Given the description of an element on the screen output the (x, y) to click on. 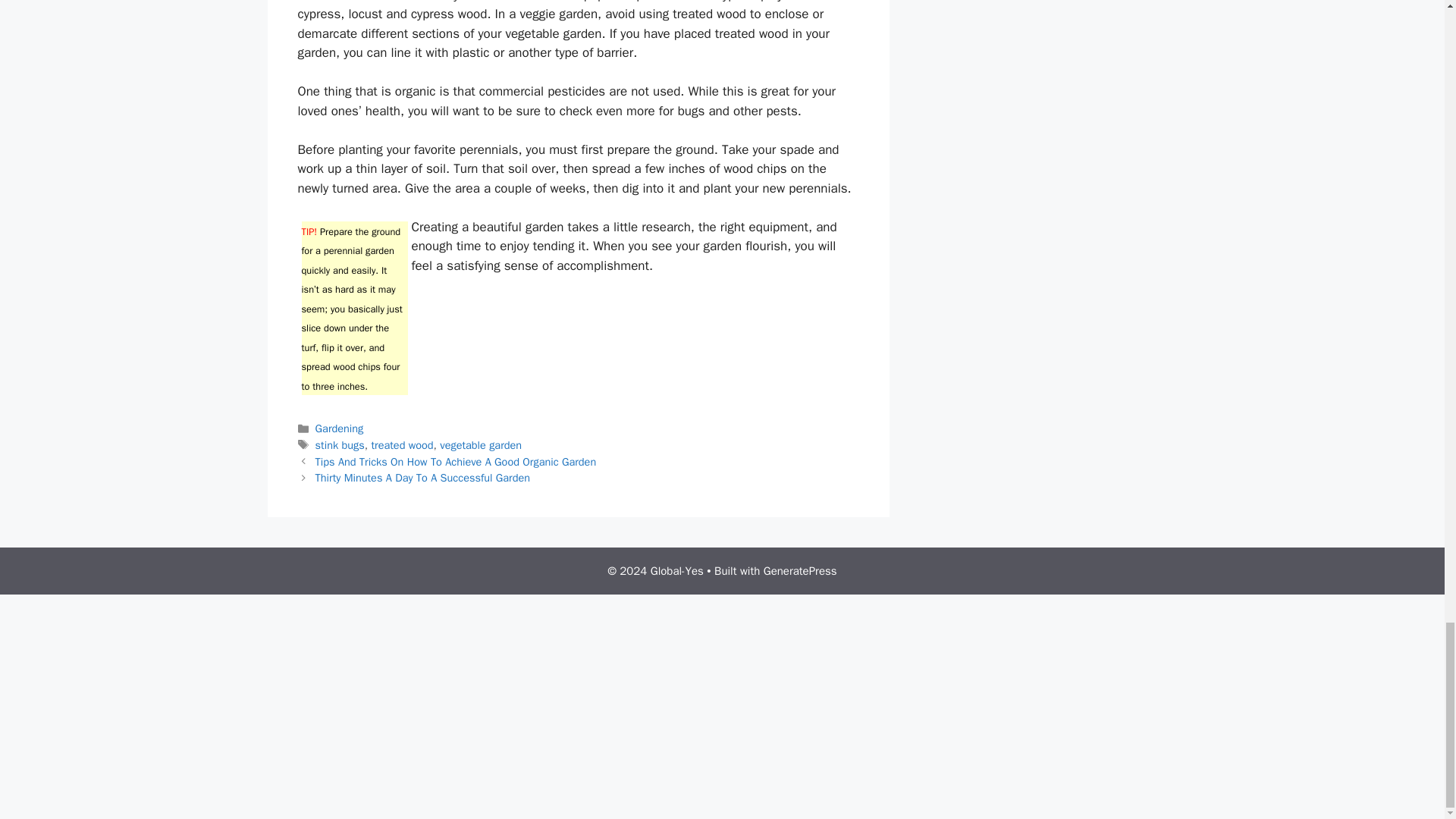
stink bugs (340, 445)
Thirty Minutes A Day To A Successful Garden (422, 477)
vegetable garden (480, 445)
Gardening (339, 427)
Tips And Tricks On How To Achieve A Good Organic Garden (455, 461)
treated wood (401, 445)
